Given the description of an element on the screen output the (x, y) to click on. 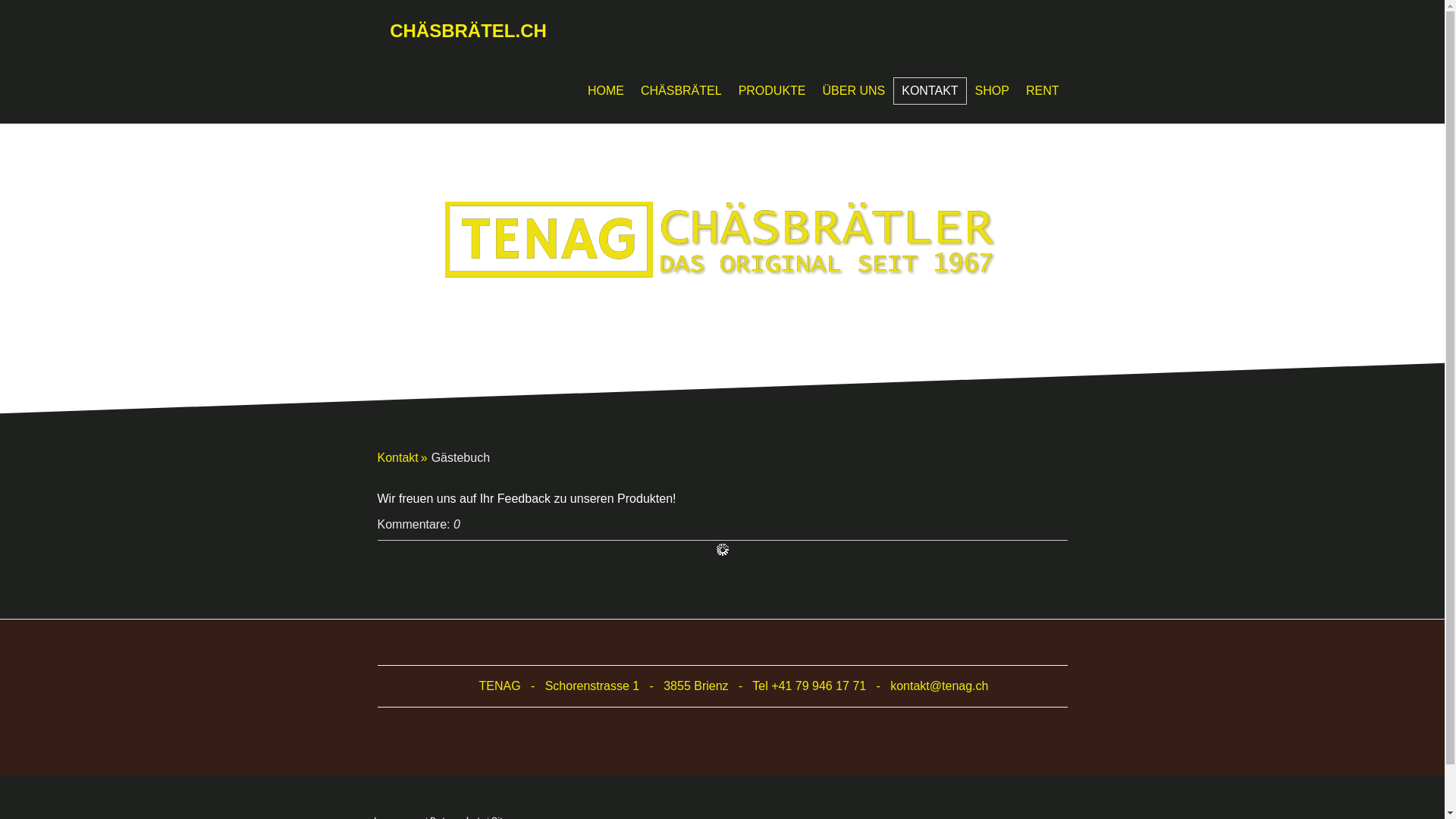
KONTAKT Element type: text (929, 90)
PRODUKTE Element type: text (772, 90)
HOME Element type: text (605, 90)
RENT Element type: text (1042, 90)
SHOP Element type: text (991, 90)
Kontakt Element type: text (404, 457)
